Given the description of an element on the screen output the (x, y) to click on. 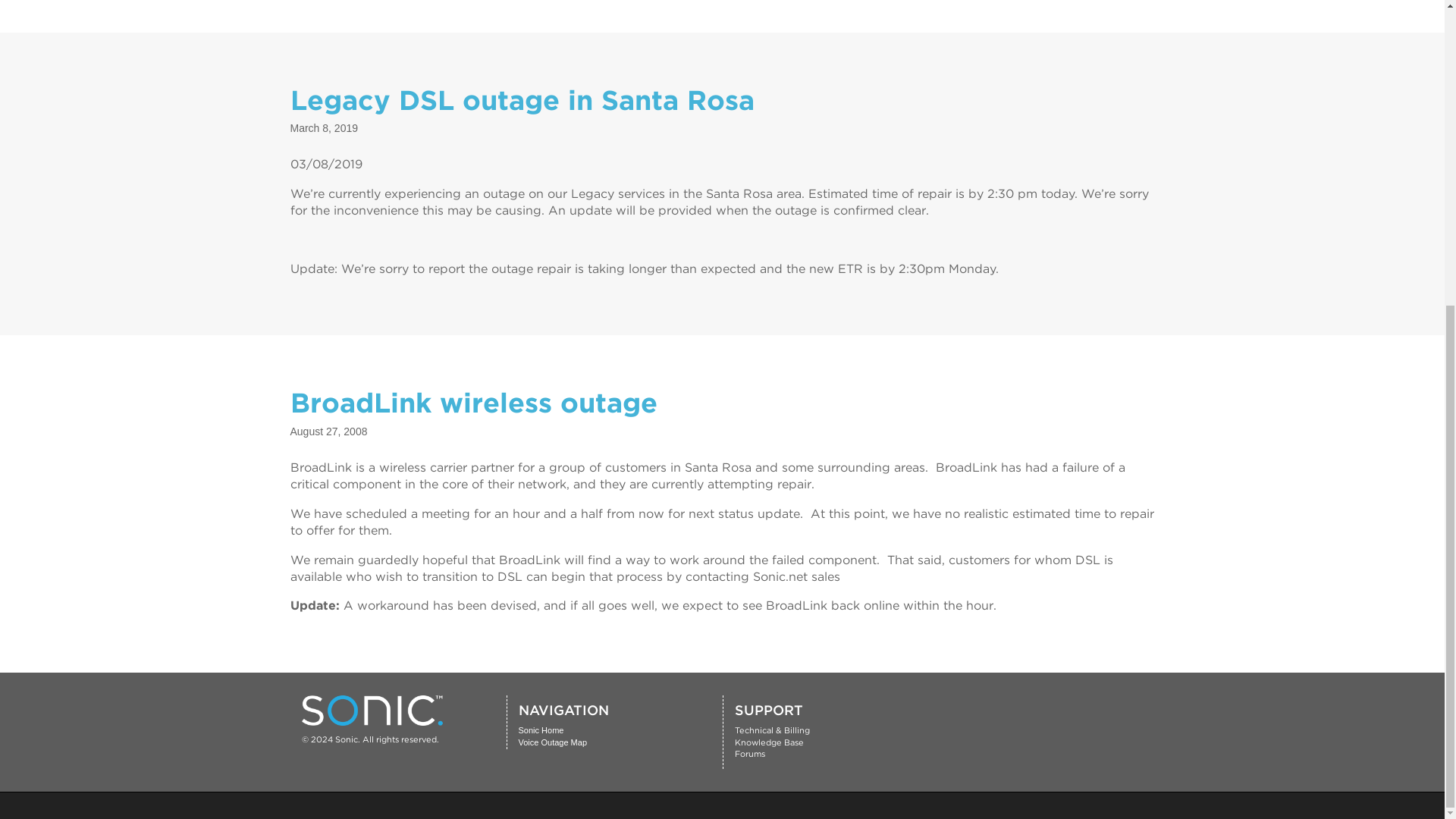
Legacy DSL outage in Santa Rosa (521, 100)
Sonic Home (541, 729)
March 8, 2019 (323, 128)
Voice Outage Map (553, 741)
August 27, 2008 (327, 431)
Knowledge Base (768, 742)
BroadLink wireless outage (472, 402)
Forums (748, 753)
